Given the description of an element on the screen output the (x, y) to click on. 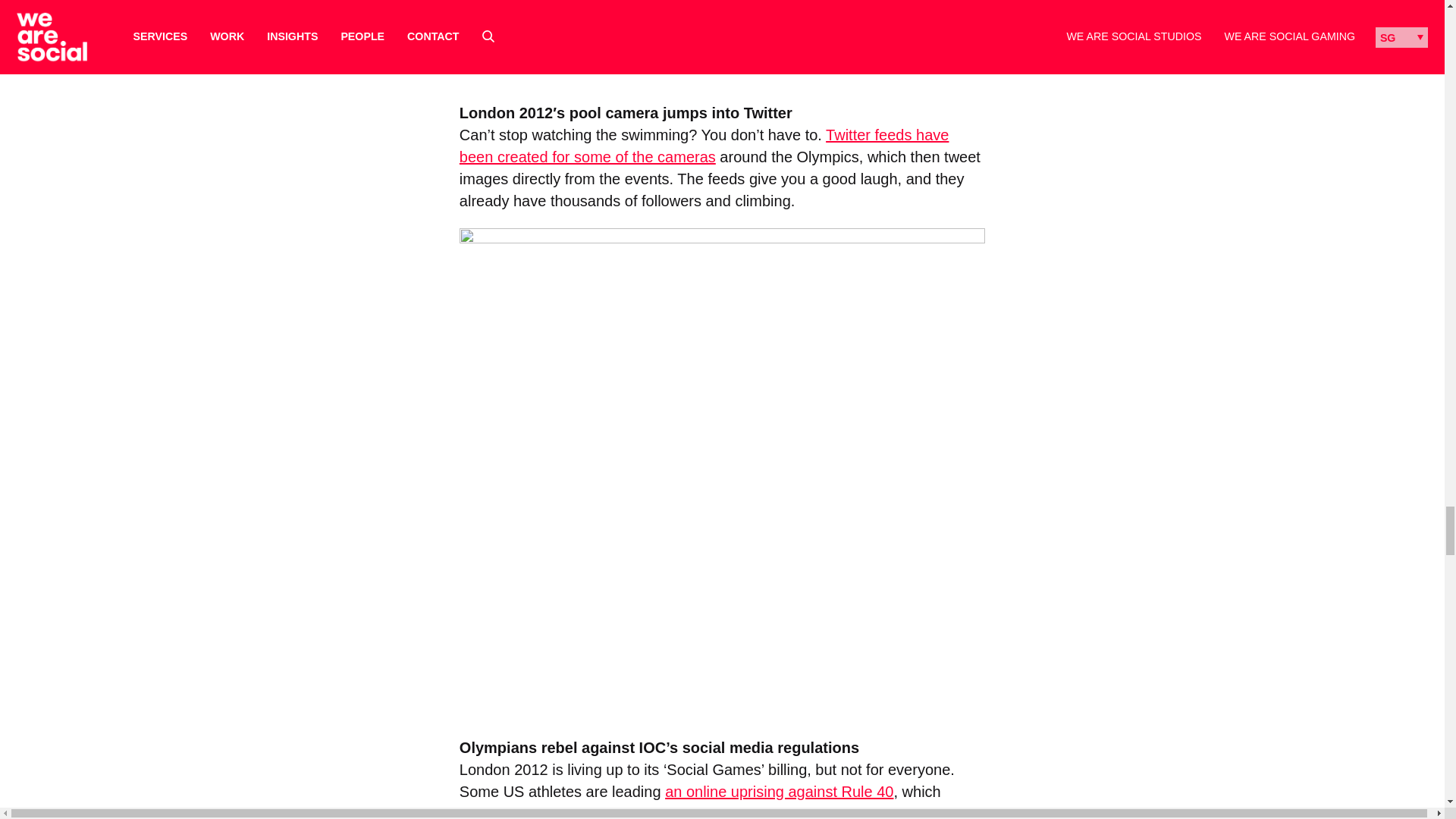
Olympic Fan Pages (722, 43)
Twitter feeds have been created for some of the cameras (704, 145)
an online uprising against Rule 40 (779, 791)
